Given the description of an element on the screen output the (x, y) to click on. 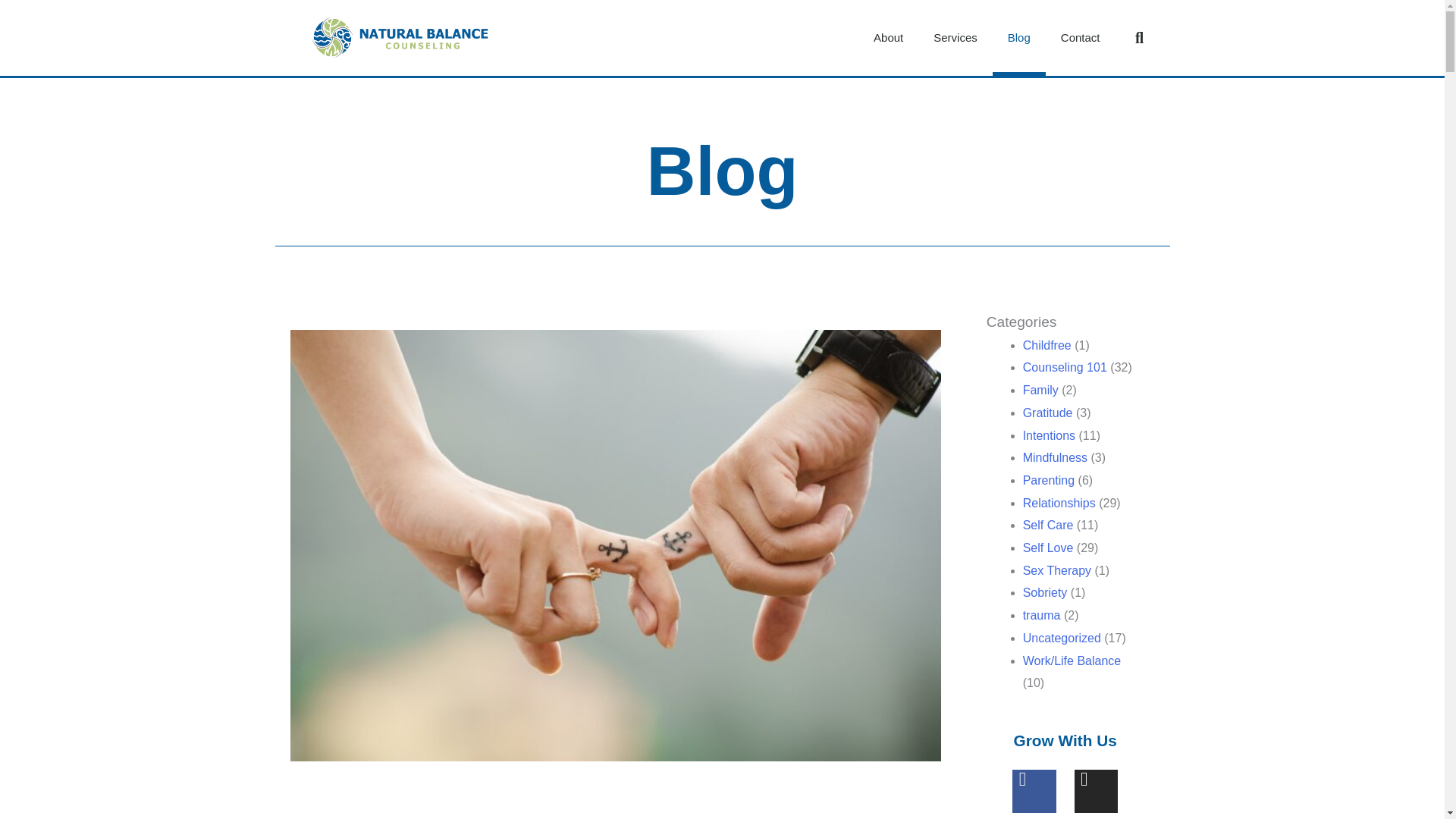
Contact (1080, 38)
Services (955, 38)
